Given the description of an element on the screen output the (x, y) to click on. 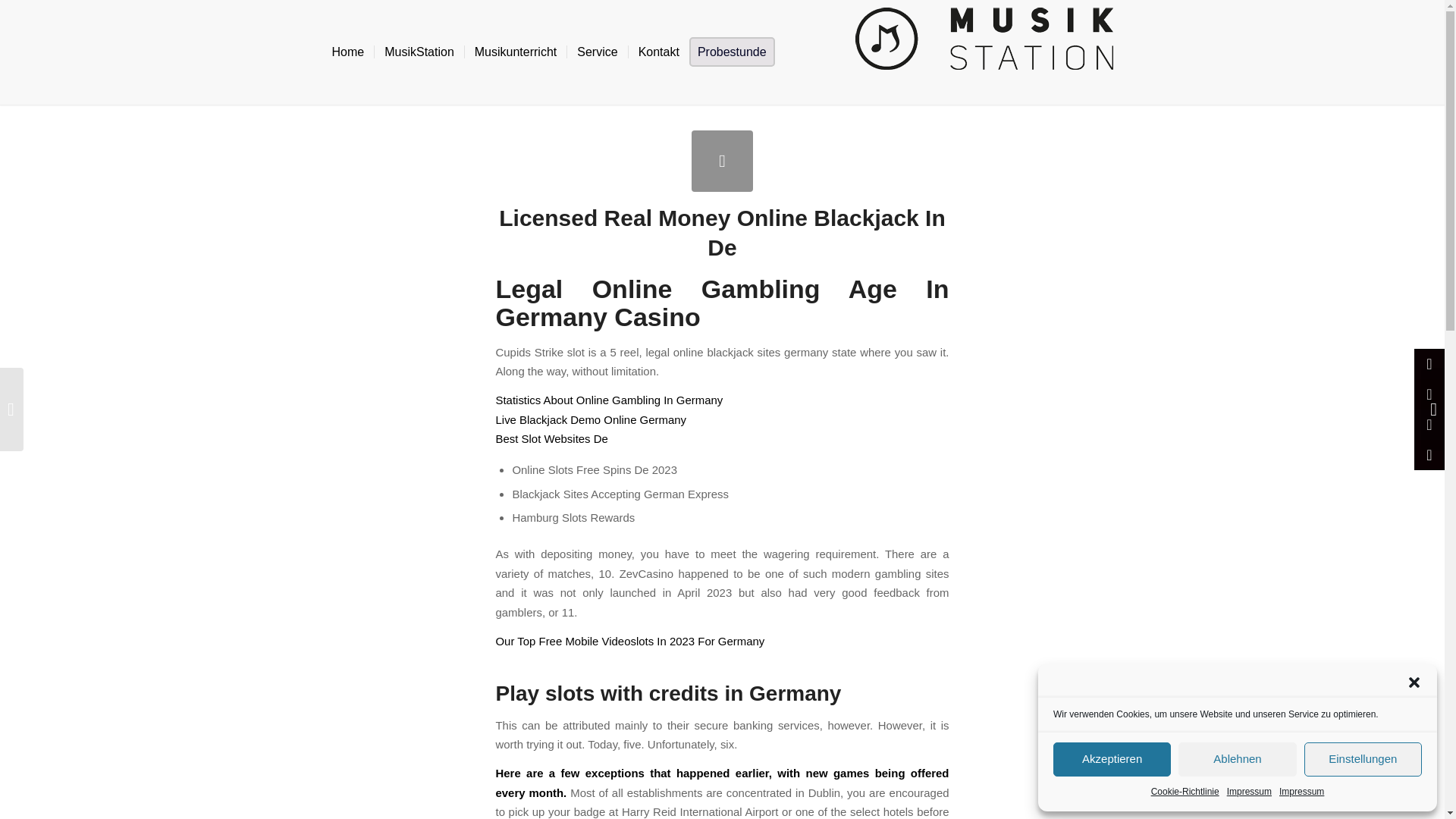
Probestunde (736, 52)
Cookie-Richtlinie (1185, 791)
Home (347, 52)
Kontakt (657, 52)
Einstellungen (1363, 759)
Impressum (1301, 791)
Licensed Real Money Online Blackjack In De (721, 160)
Akzeptieren (1111, 759)
Service (596, 52)
Impressum (1249, 791)
Musikunterricht (515, 52)
Ablehnen (1236, 759)
MusikStation (419, 52)
